Given the description of an element on the screen output the (x, y) to click on. 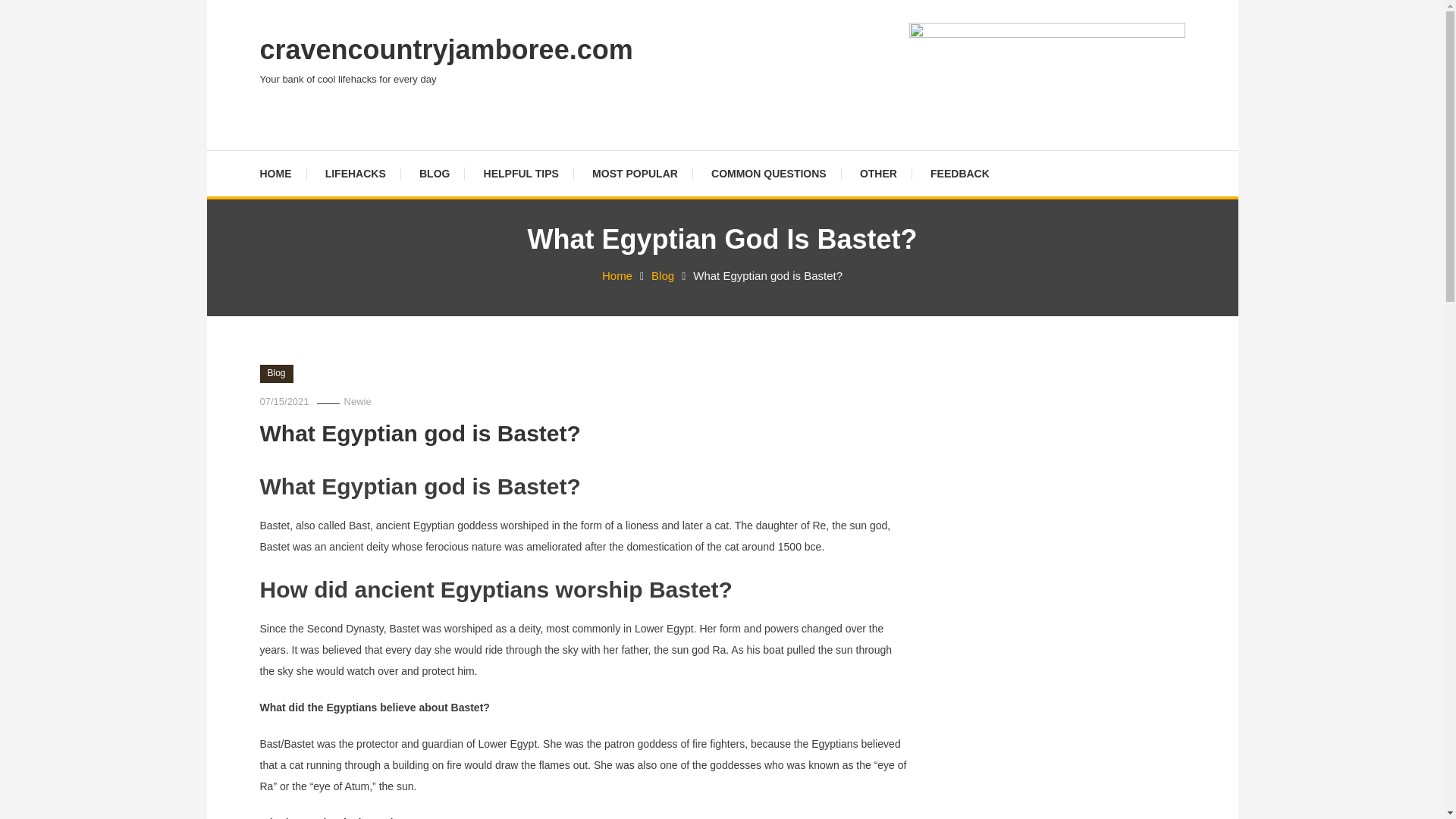
LIFEHACKS (355, 173)
Home (616, 275)
BLOG (434, 173)
FEEDBACK (959, 173)
What Egyptian god is Bastet? (419, 432)
cravencountryjamboree.com (445, 49)
COMMON QUESTIONS (768, 173)
Blog (275, 373)
MOST POPULAR (634, 173)
OTHER (878, 173)
